Given the description of an element on the screen output the (x, y) to click on. 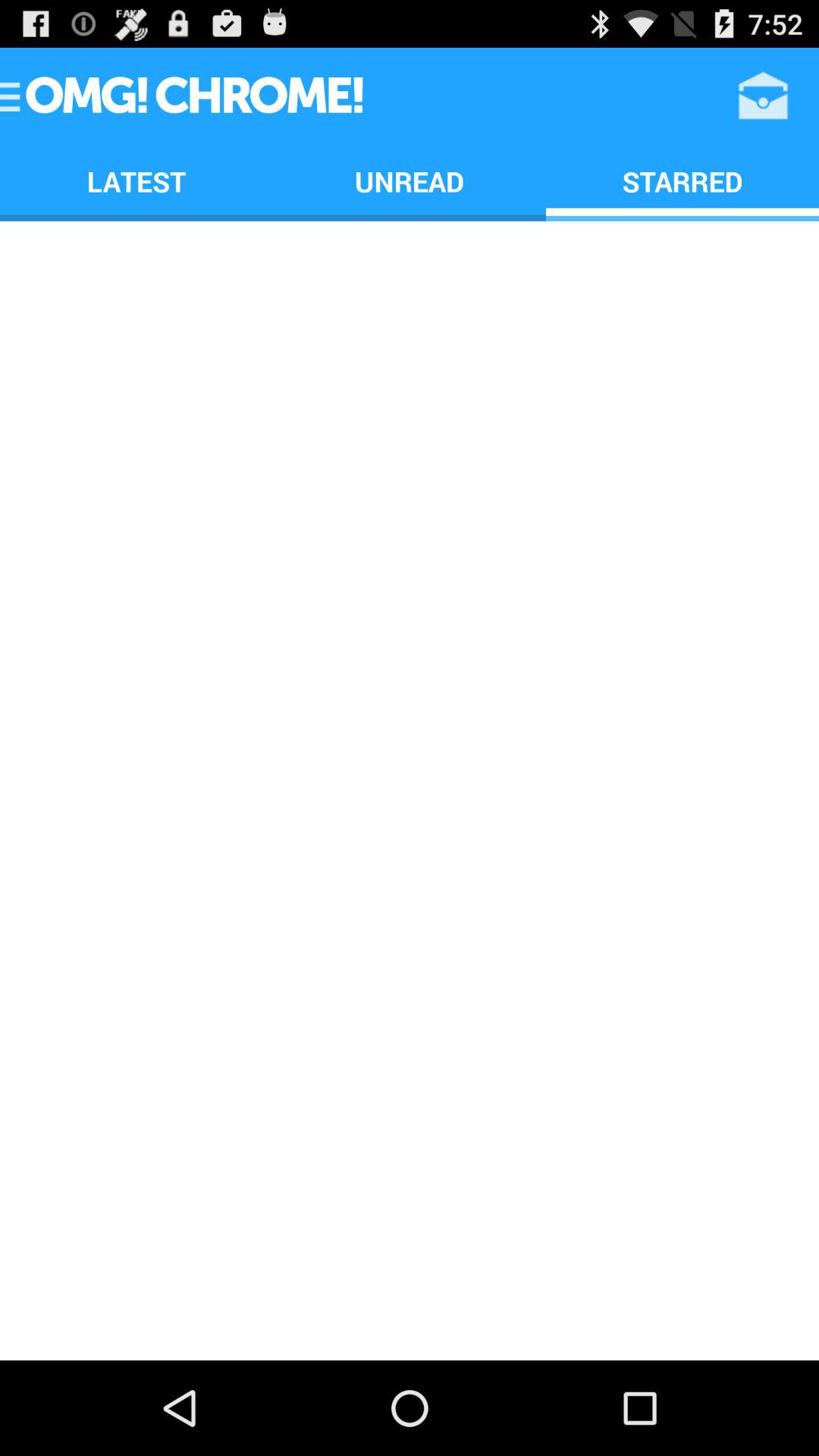
choose item next to unread app (682, 181)
